Given the description of an element on the screen output the (x, y) to click on. 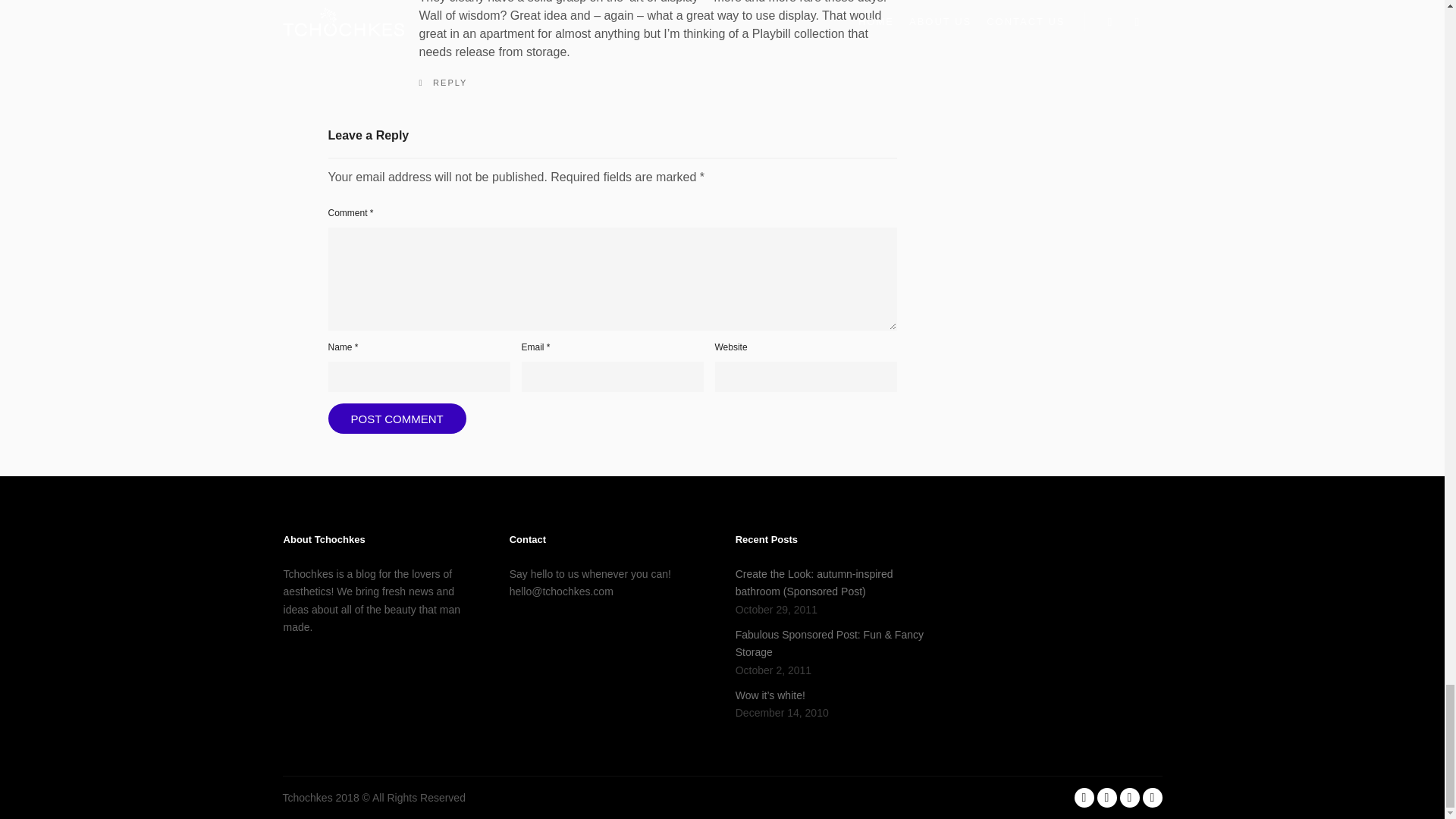
REPLY (443, 81)
Post Comment (396, 418)
Post Comment (396, 418)
